Given the description of an element on the screen output the (x, y) to click on. 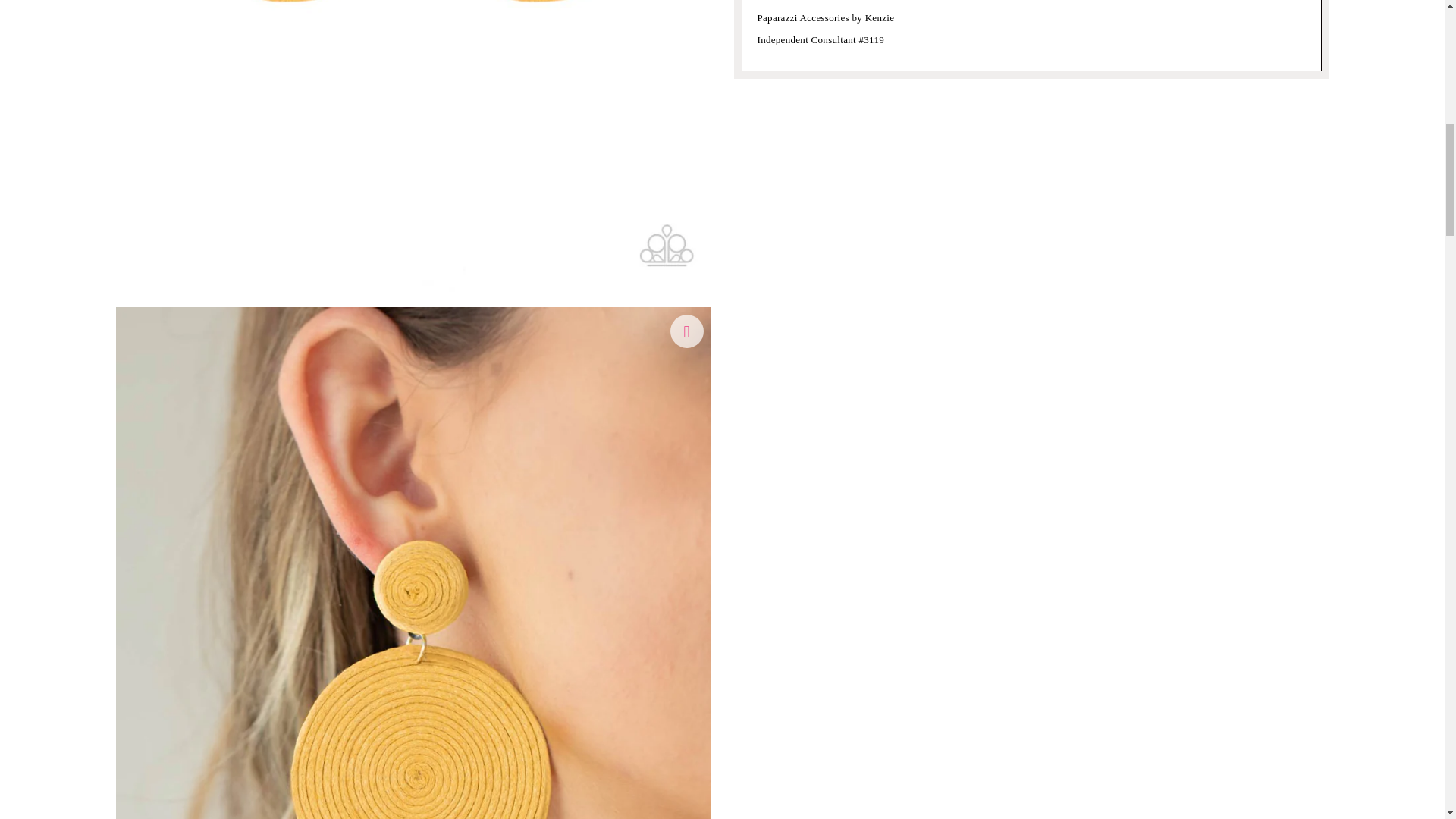
click to zoom-in (686, 331)
